Given the description of an element on the screen output the (x, y) to click on. 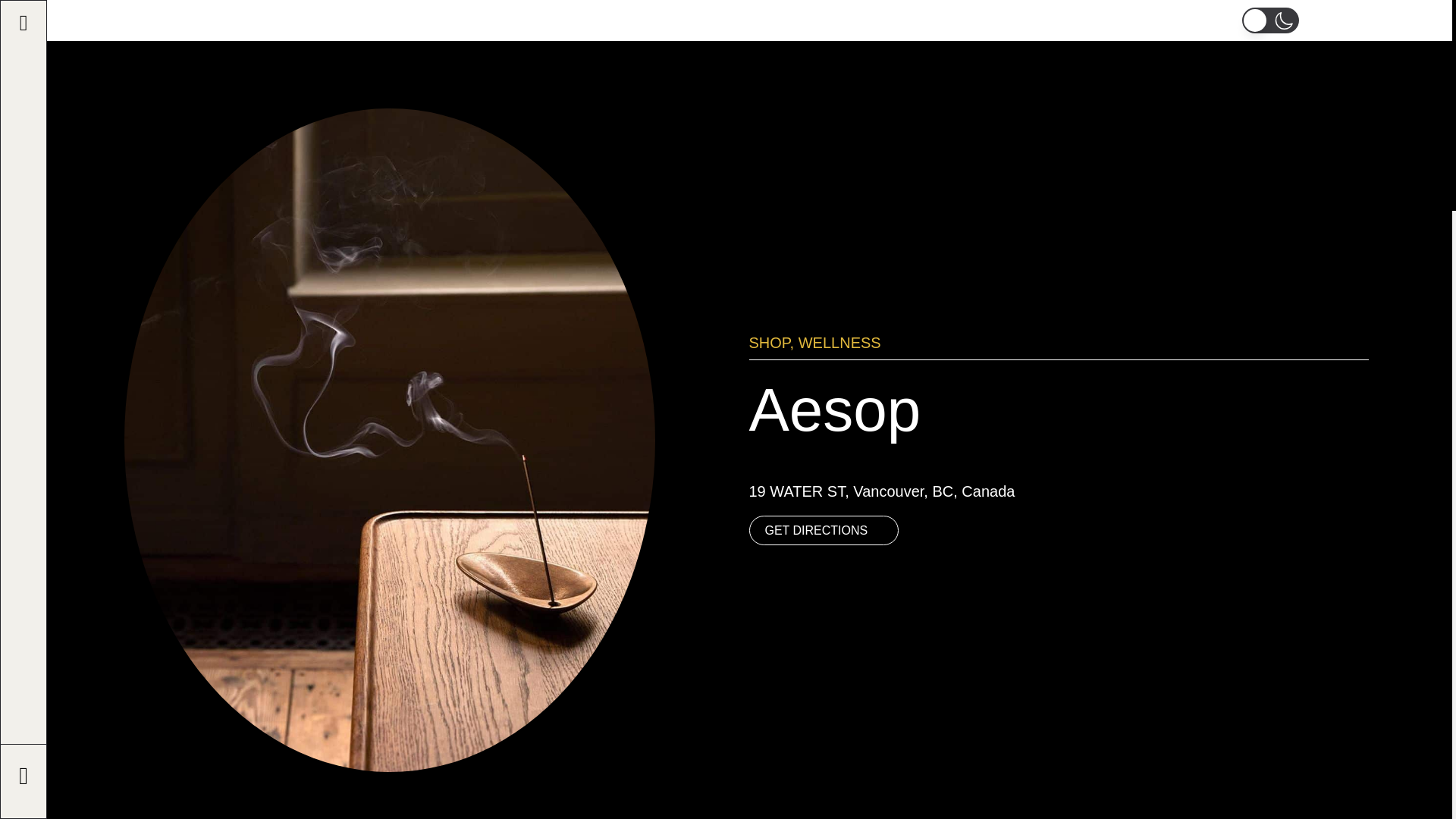
WELLNESS (838, 342)
SHOP (769, 342)
GET DIRECTIONS (824, 530)
